Given the description of an element on the screen output the (x, y) to click on. 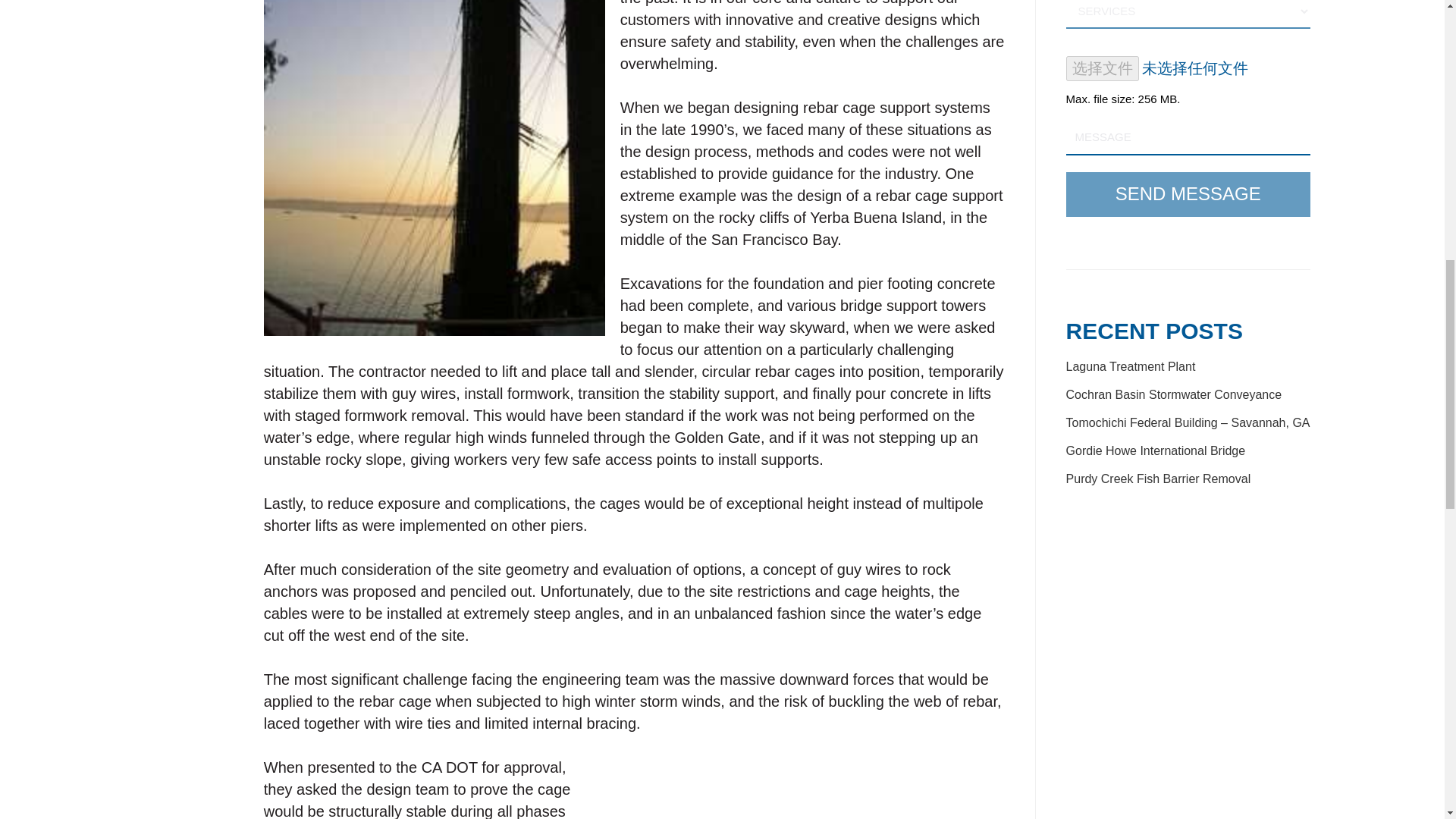
Cochran Basin Stormwater Conveyance (1173, 394)
Laguna Treatment Plant (1130, 366)
Gordie Howe International Bridge (1155, 450)
Send Message (1187, 194)
Purdy Creek Fish Barrier Removal (1157, 478)
Send Message (1187, 194)
